Given the description of an element on the screen output the (x, y) to click on. 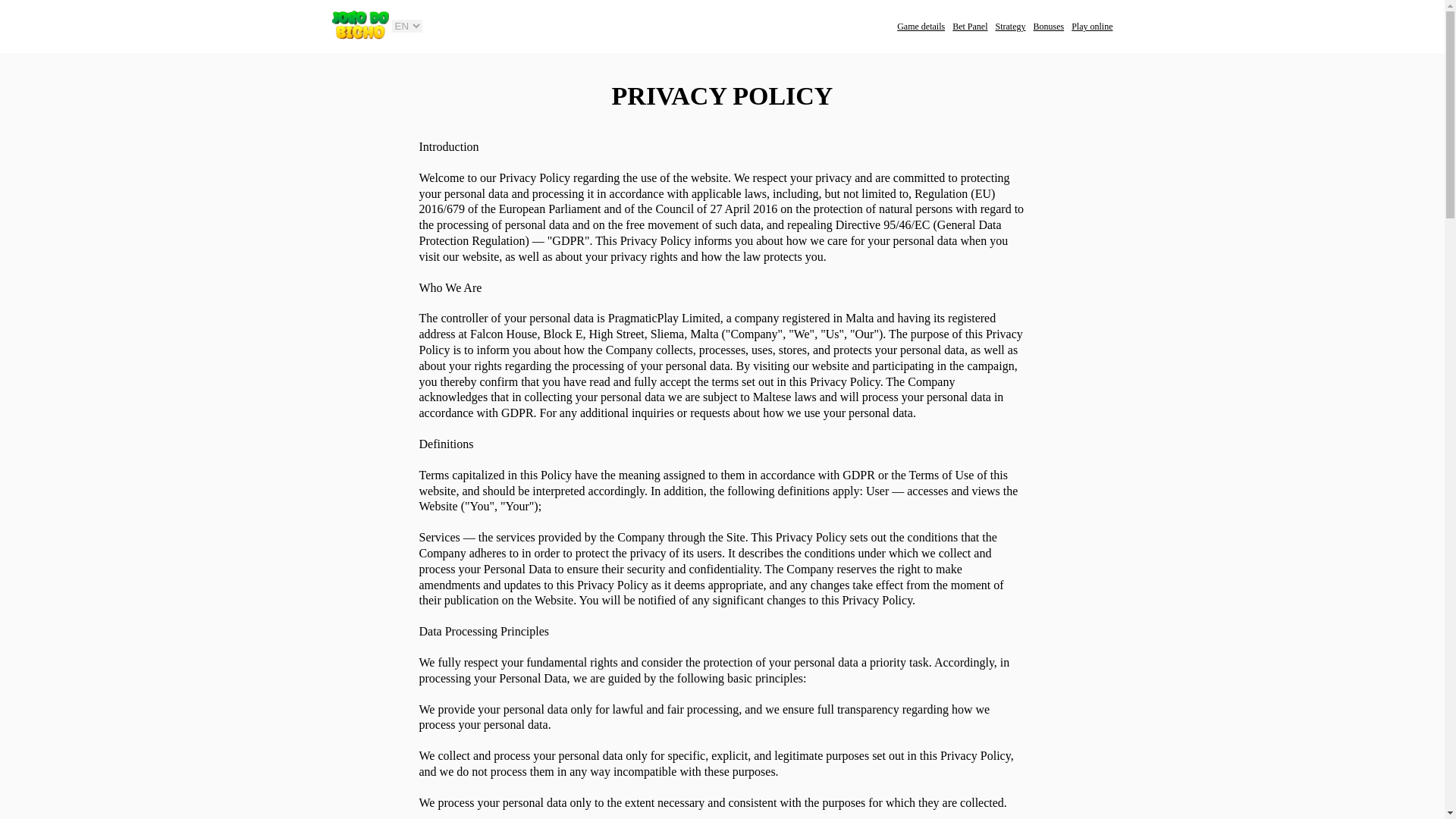
Bet Panel (969, 26)
Bonuses (1048, 26)
Game details (920, 26)
Play online (1091, 26)
Strategy (1009, 26)
